Given the description of an element on the screen output the (x, y) to click on. 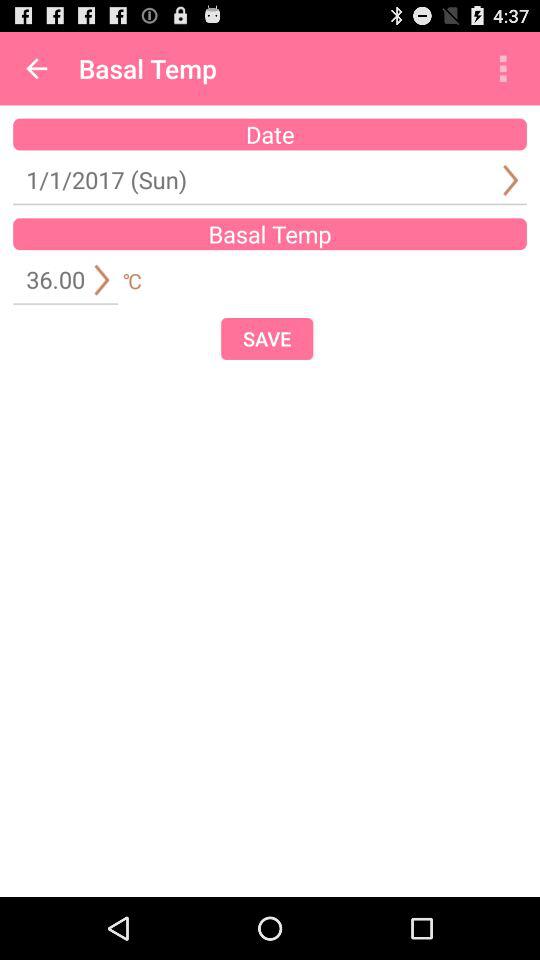
press the item to the left of the basal temp icon (36, 68)
